Given the description of an element on the screen output the (x, y) to click on. 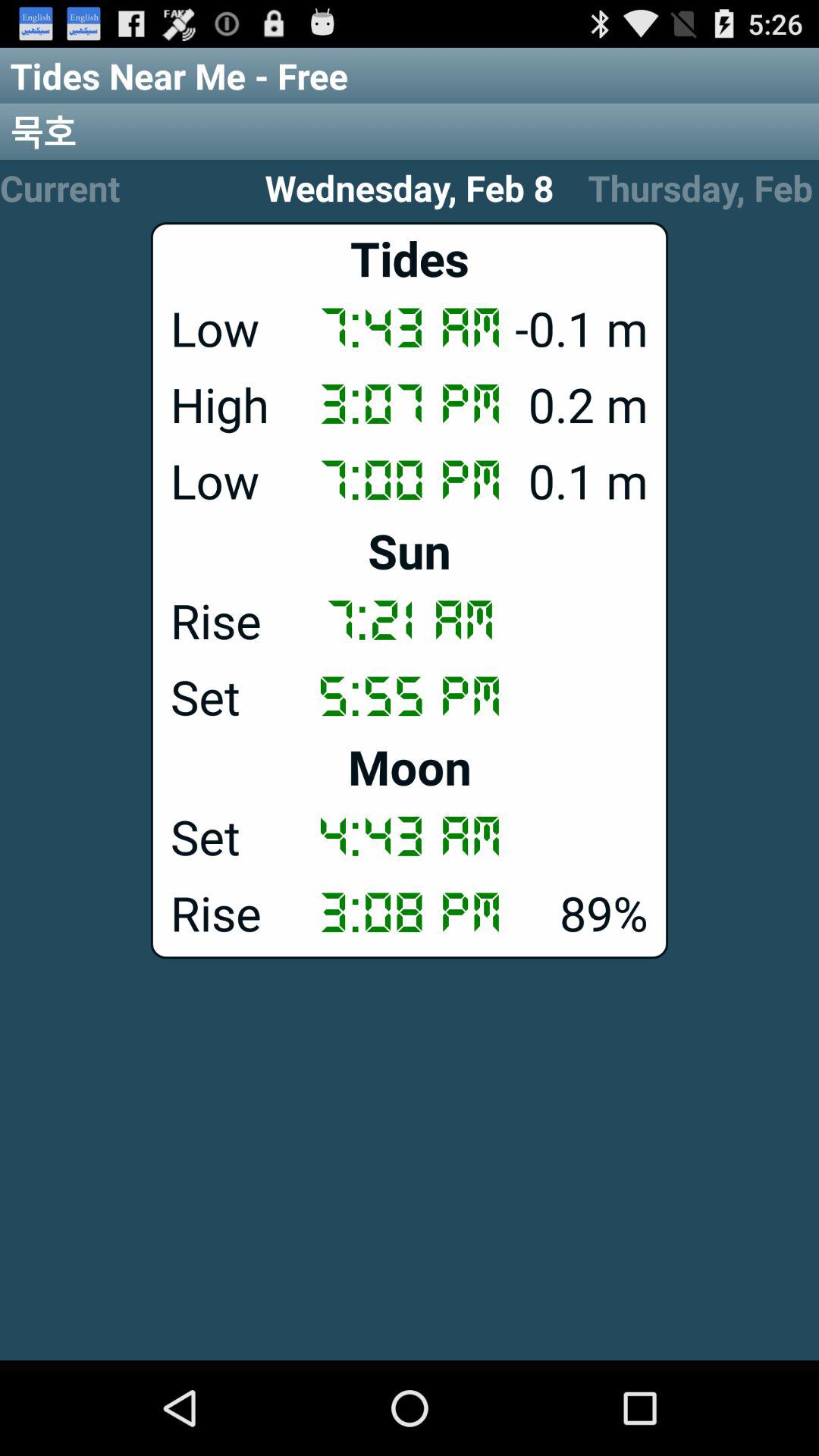
choose the 89% item (409, 912)
